Given the description of an element on the screen output the (x, y) to click on. 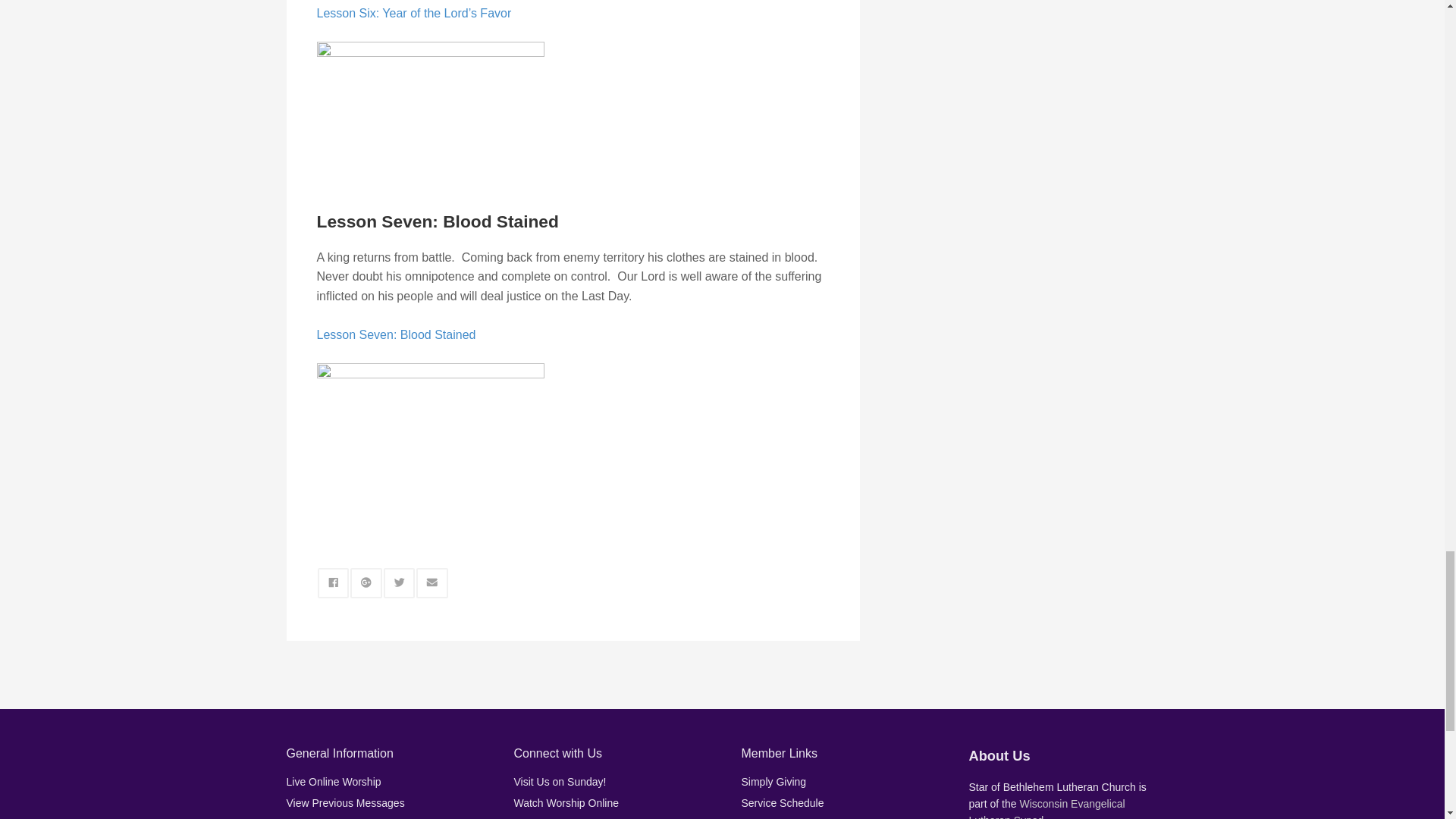
Lesson Seven: Blood Stained (396, 333)
View Previous Messages (345, 802)
Live Online Worship (333, 781)
